Given the description of an element on the screen output the (x, y) to click on. 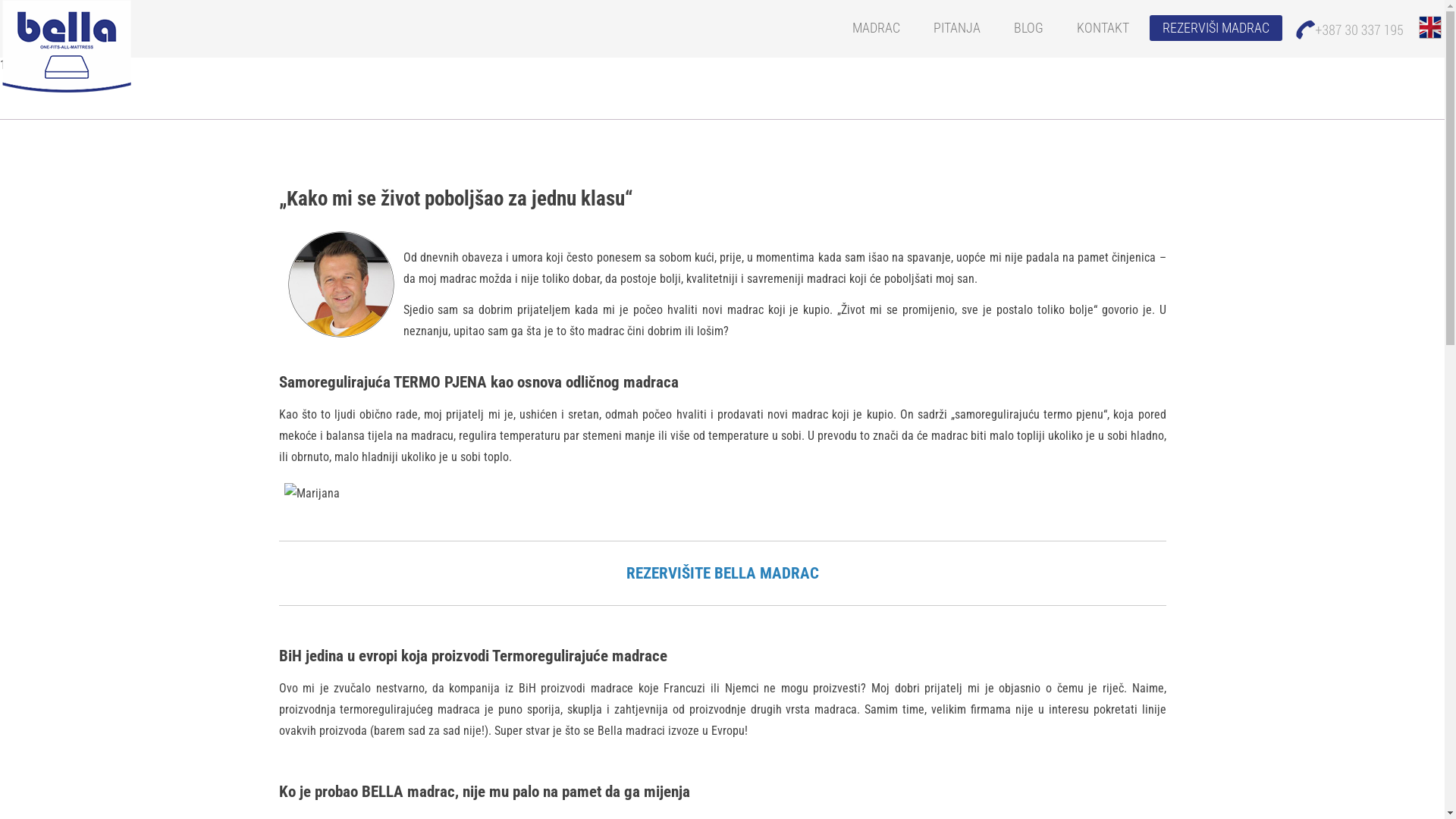
BLOG Element type: text (1028, 27)
PITANJA Element type: text (956, 27)
KONTAKT Element type: text (1102, 27)
MADRAC Element type: text (876, 27)
